Given the description of an element on the screen output the (x, y) to click on. 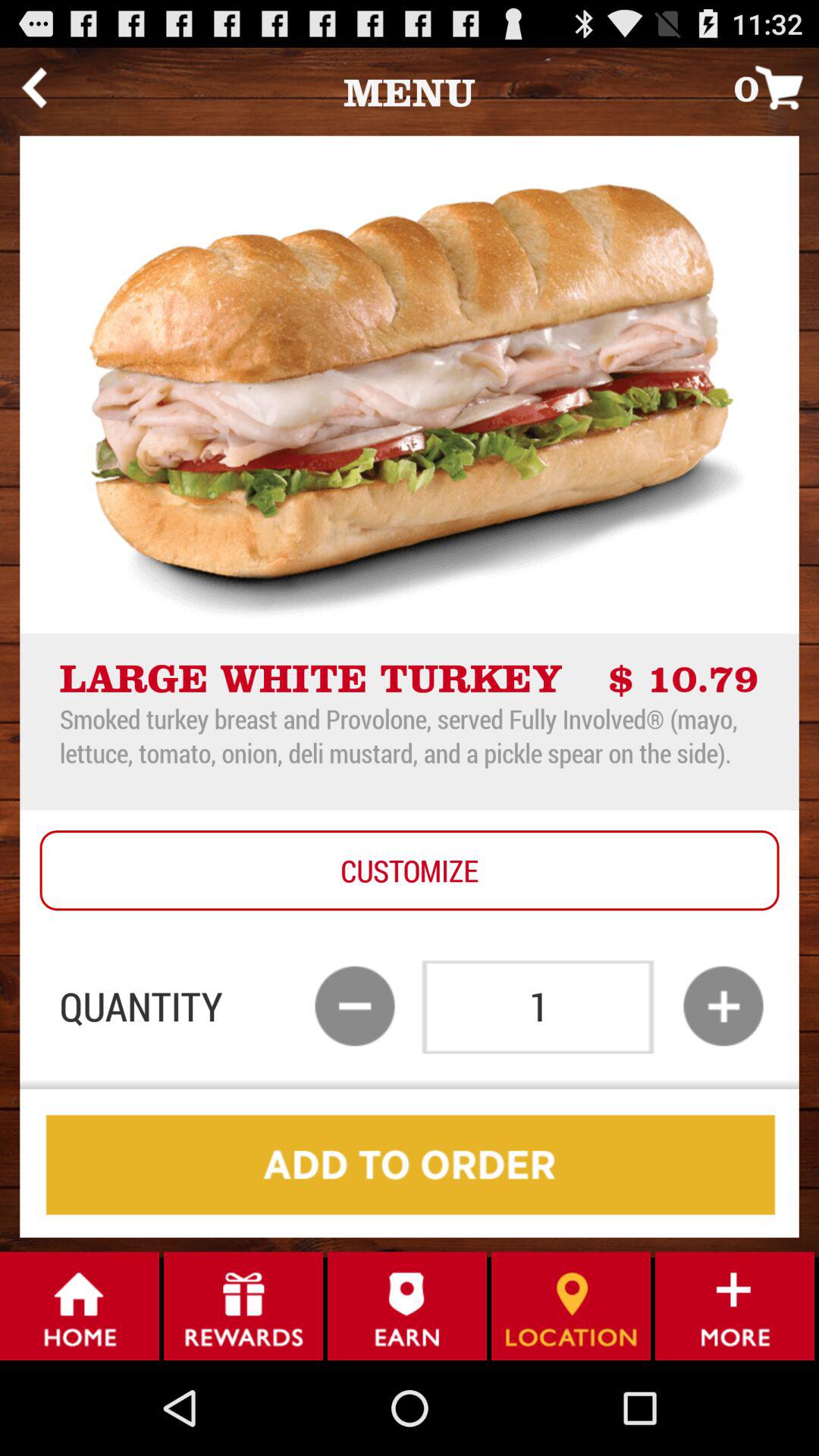
press the app to the right of menu (776, 87)
